Given the description of an element on the screen output the (x, y) to click on. 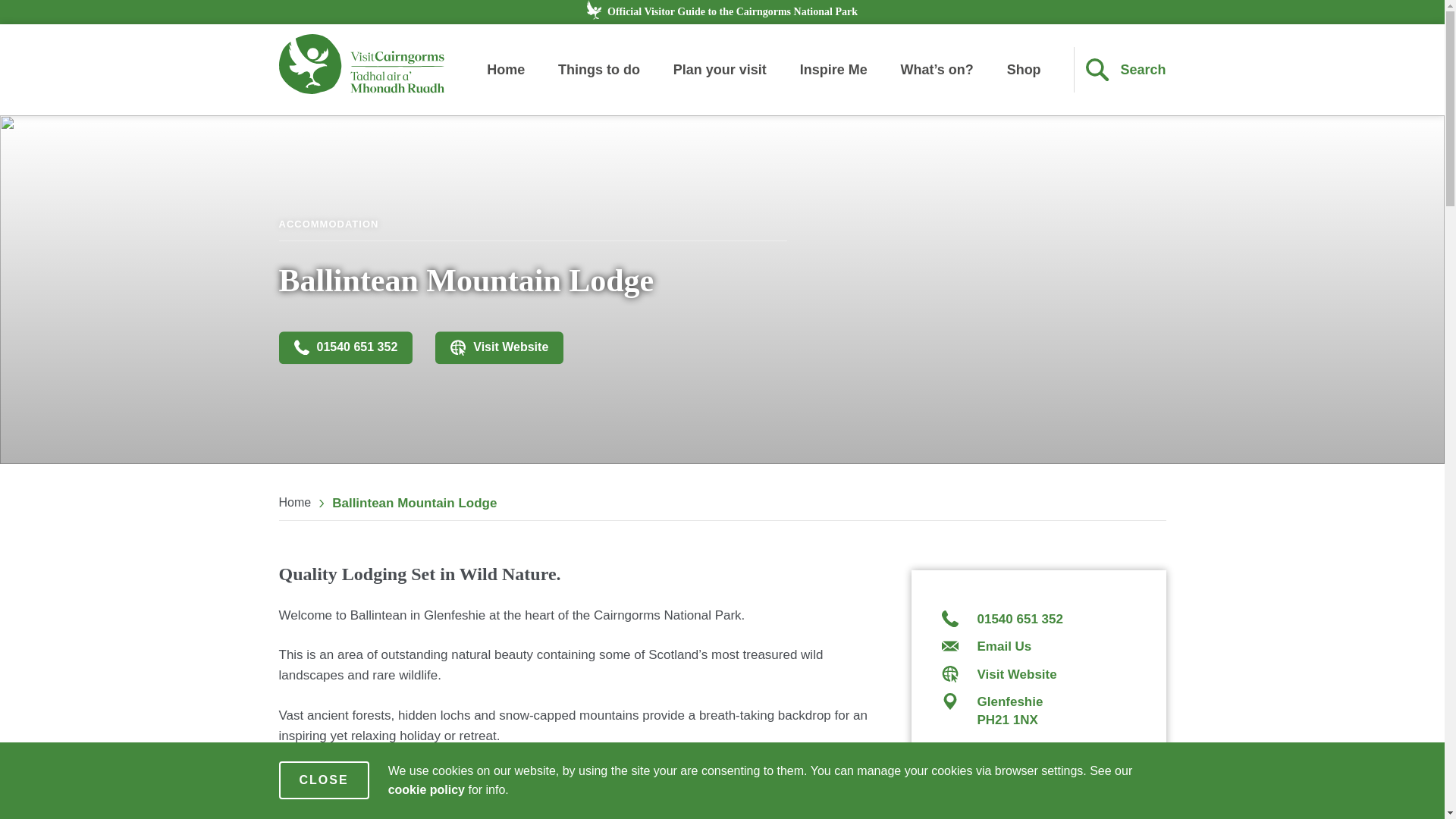
cookie policy (426, 789)
Things to do (598, 69)
CLOSE (324, 780)
